Given the description of an element on the screen output the (x, y) to click on. 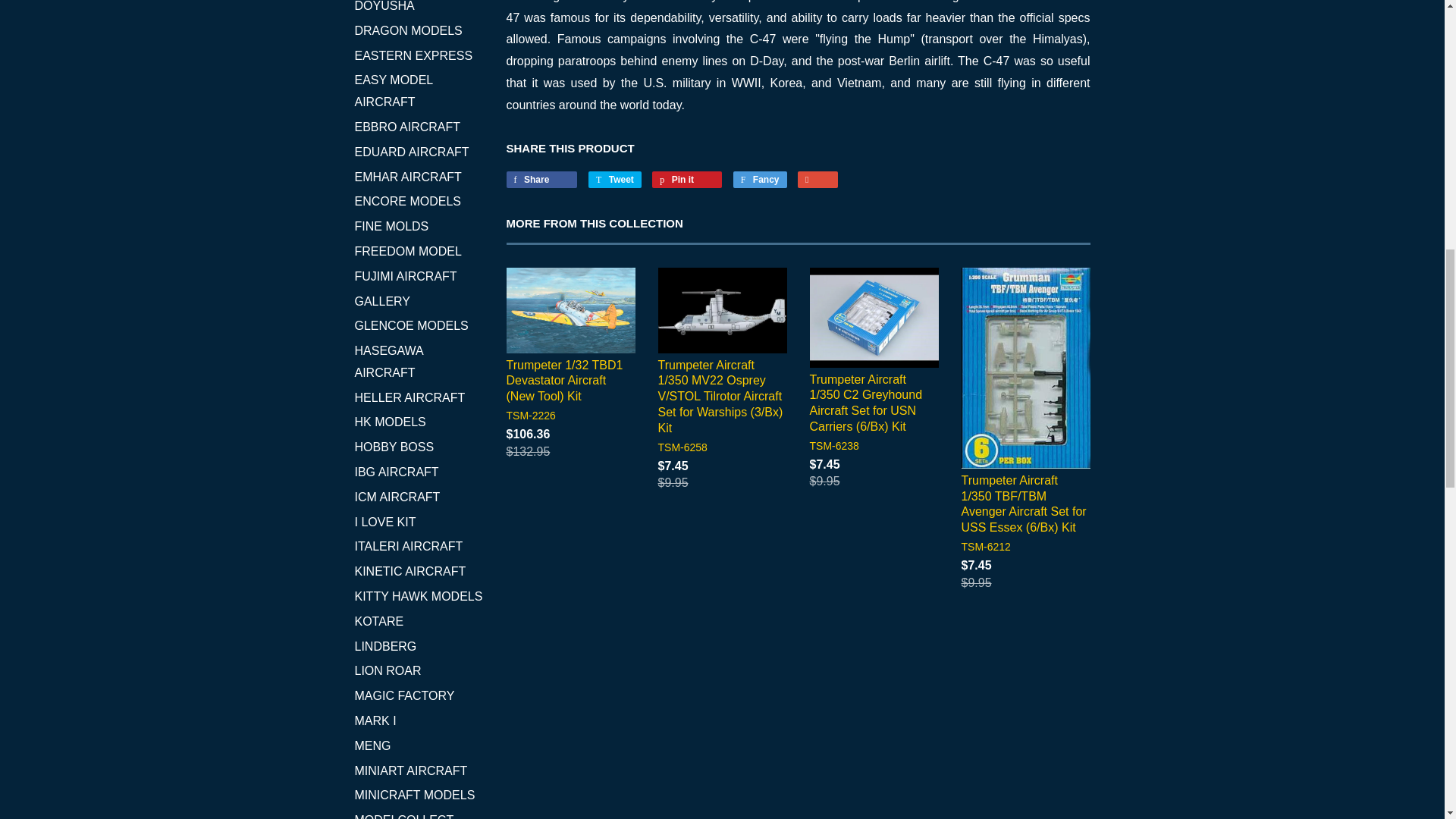
Pin on Pinterest (687, 179)
Add to Fancy (760, 179)
Tweet on Twitter (615, 179)
Share on Facebook (542, 179)
